Given the description of an element on the screen output the (x, y) to click on. 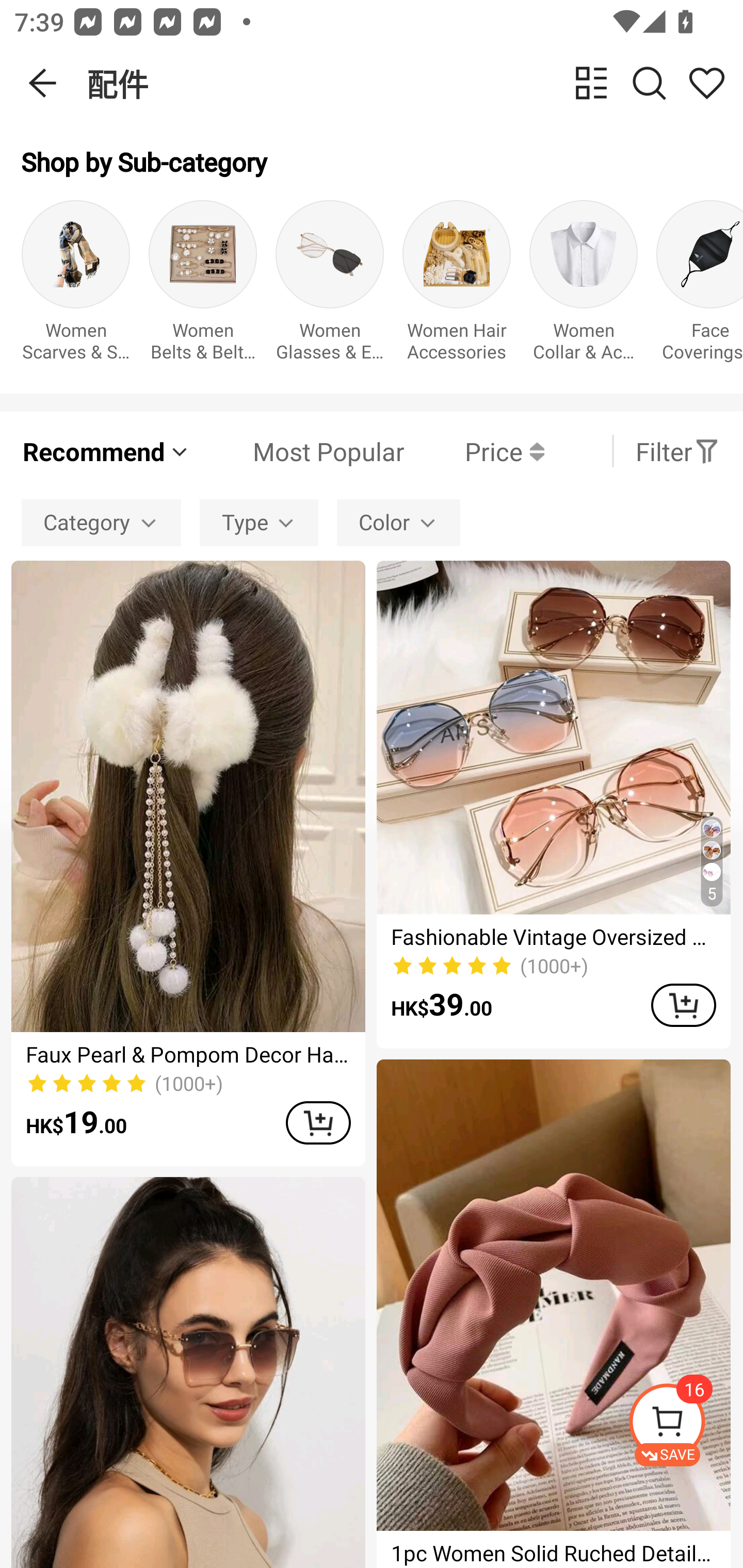
配件 change view Search Share (414, 82)
change view (591, 82)
Search (648, 82)
Share (706, 82)
Women Scarves & Scarf Accessories (75, 285)
Women Belts & Belts Accessories (202, 285)
Women Glasses & Eyewear Accessories (329, 285)
Women Hair Accessories (456, 285)
Women Collar & Accessories (583, 285)
Face Coverings & Accs (699, 285)
Recommend (106, 450)
Most Popular (297, 450)
Price (474, 450)
Filter (677, 450)
Category (101, 521)
Type (258, 521)
Color (397, 521)
ADD TO CART (683, 1005)
ADD TO CART (318, 1122)
SAVE (685, 1424)
